Given the description of an element on the screen output the (x, y) to click on. 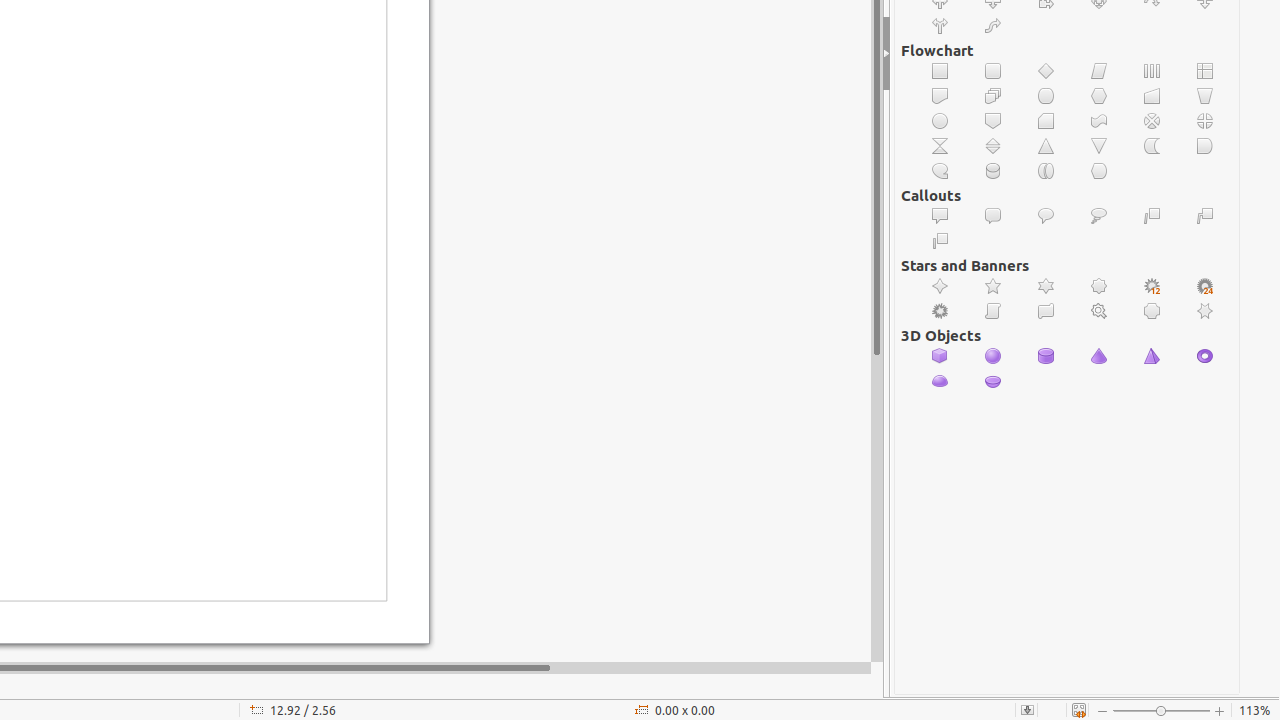
Flowchart: Summing Junction Element type: list-item (1152, 121)
Flowchart: Stored Data Element type: list-item (1152, 146)
Flowchart: Or Element type: list-item (1205, 121)
Flowchart: Collate Element type: list-item (940, 146)
Flowchart: Off-page Connector Element type: list-item (993, 121)
